Given the description of an element on the screen output the (x, y) to click on. 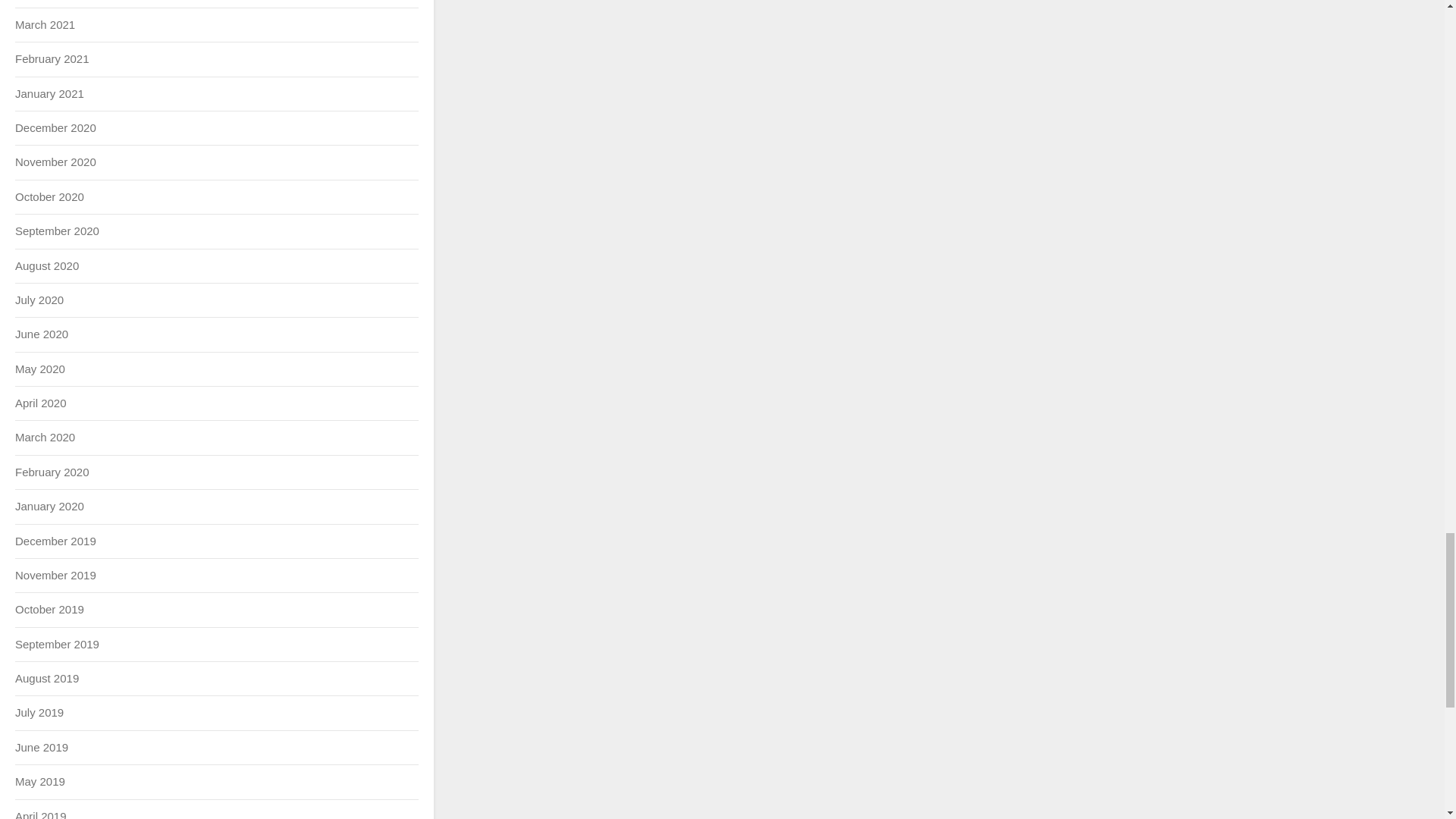
February 2021 (51, 58)
March 2021 (44, 24)
